Given the description of an element on the screen output the (x, y) to click on. 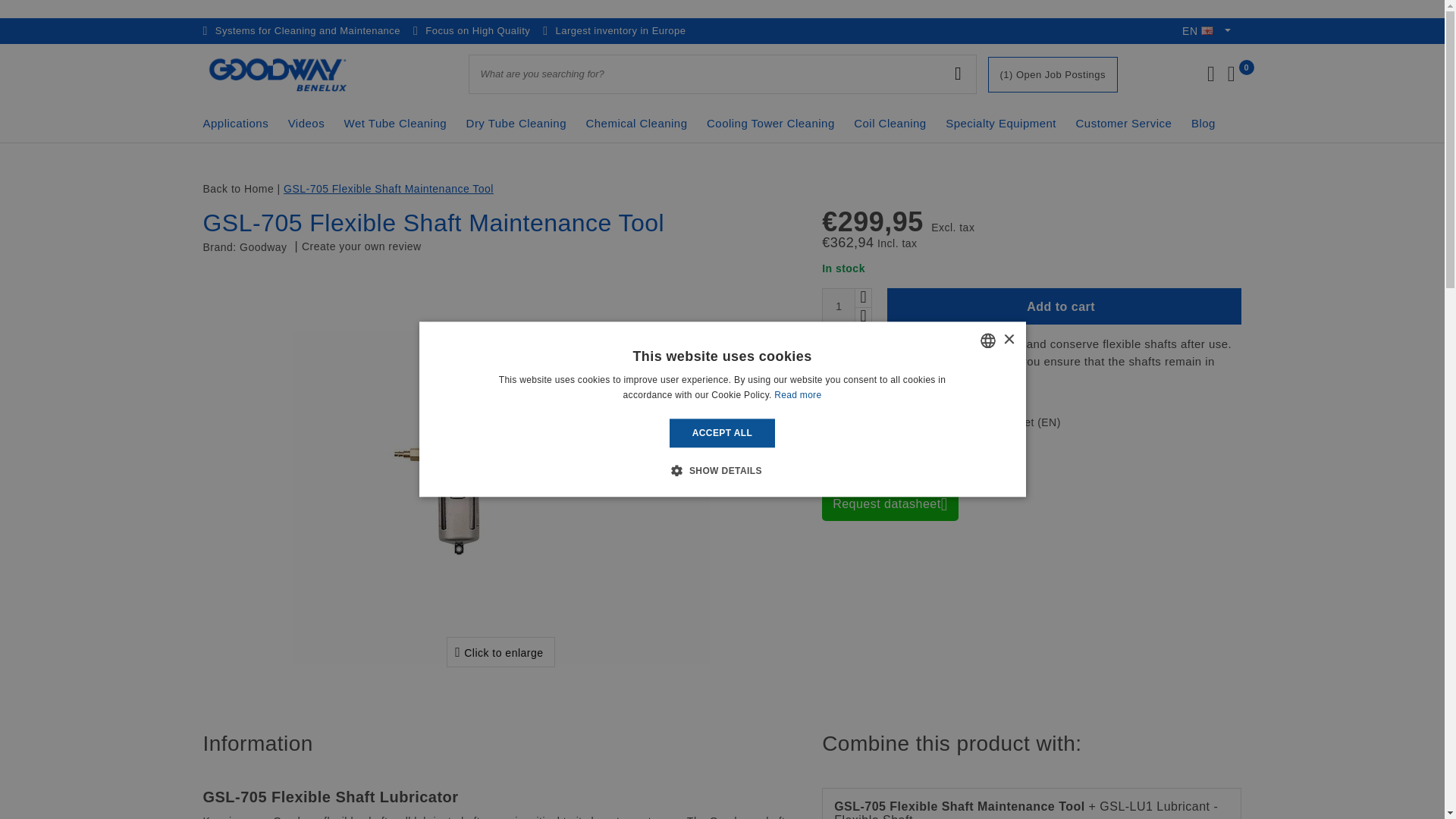
1 (839, 306)
